Given the description of an element on the screen output the (x, y) to click on. 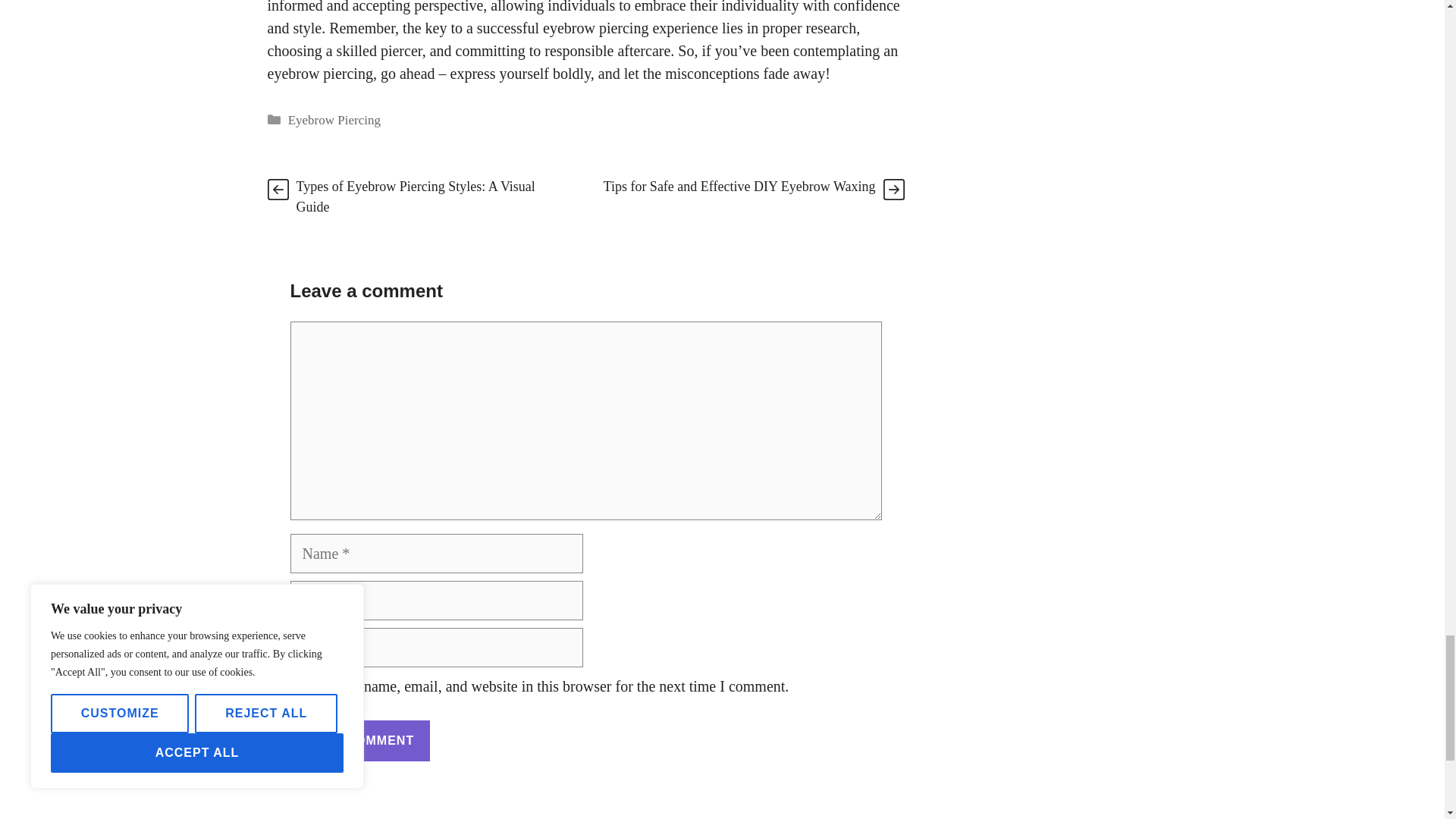
yes (294, 685)
Post Comment (359, 740)
Eyebrow Piercing (334, 120)
